Given the description of an element on the screen output the (x, y) to click on. 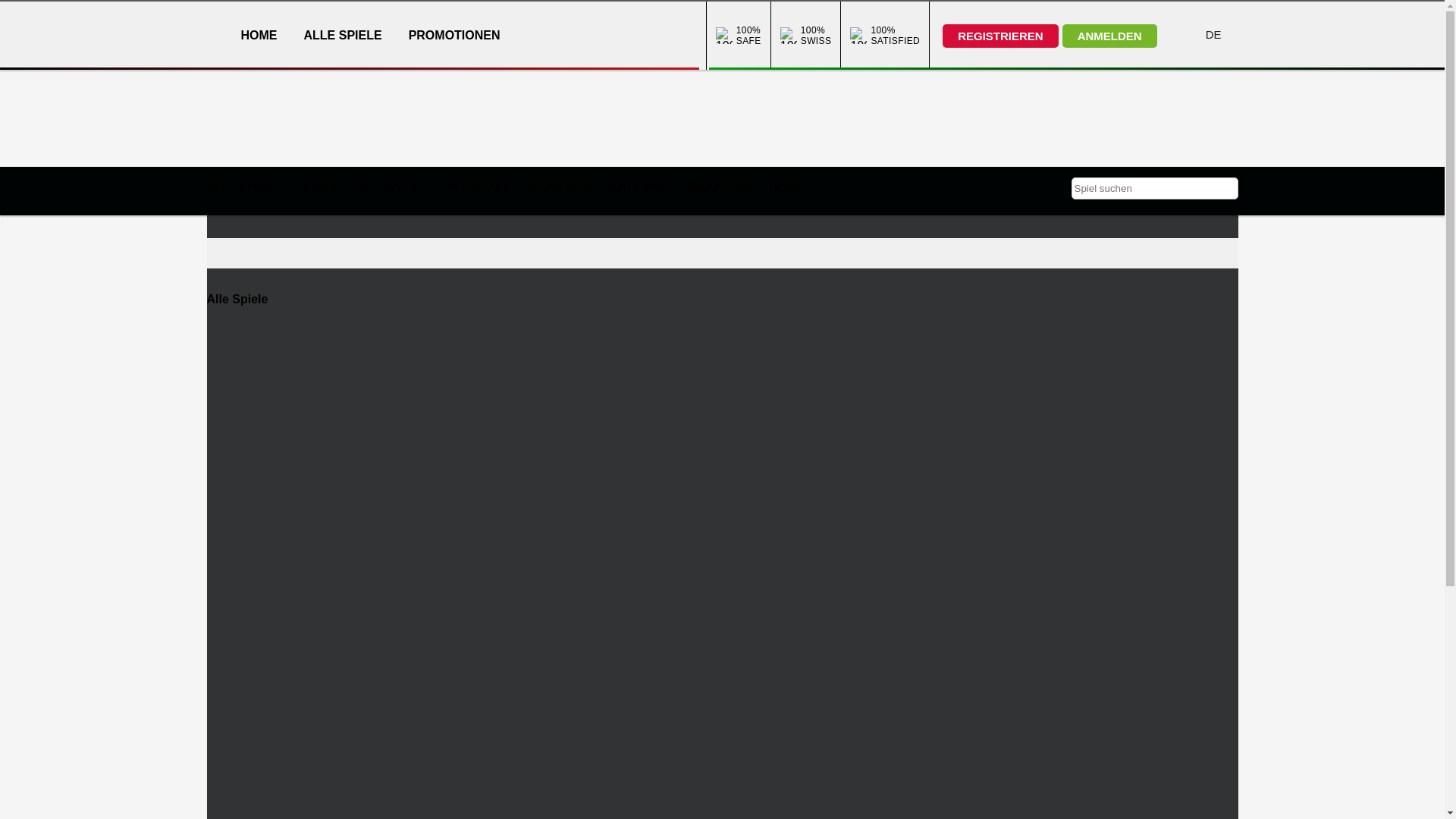
100% SWISS Element type: text (796, 35)
100% SAFE Element type: text (728, 35)
HOME Element type: text (259, 34)
ALLE SPIELE Element type: text (342, 34)
ANMELDEN Element type: text (1109, 35)
LIVE CASINO Element type: text (469, 189)
JACKPOTS Element type: text (384, 189)
POKER Element type: text (789, 189)
PROMOTIONEN Element type: text (454, 34)
BLACKJACK Element type: text (558, 189)
BACCARAT Element type: text (720, 189)
REGISTRIEREN Element type: text (1000, 35)
SLOTS Element type: text (316, 189)
ROULETTE Element type: text (640, 189)
100% SATISFIED Element type: text (884, 35)
ALLE SPIELE Element type: text (244, 189)
